Given the description of an element on the screen output the (x, y) to click on. 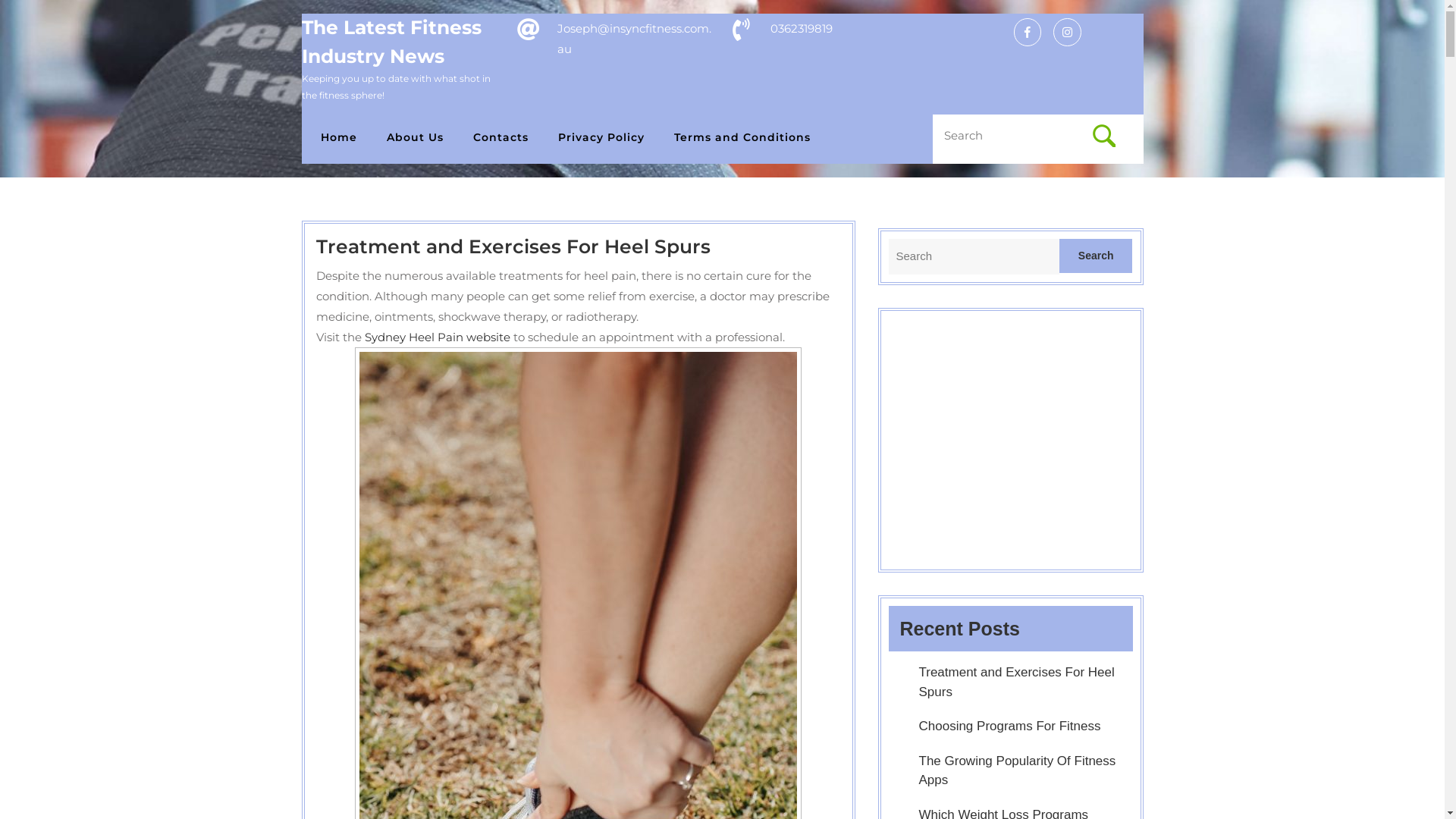
Sydney Heel Pain website Element type: text (436, 336)
Treatment and Exercises For Heel Spurs Element type: text (1016, 682)
Treatment and Exercises For Heel Spurs Element type: text (512, 246)
Joseph@insyncfitness.com.au Element type: text (634, 38)
About Us Element type: text (420, 137)
Search Element type: text (1104, 135)
The Growing Popularity Of Fitness Apps Element type: text (1017, 770)
0362319819 Element type: text (801, 28)
The Latest Fitness Industry News Element type: text (391, 41)
Search Element type: text (1095, 255)
Home Element type: text (343, 137)
Choosing Programs For Fitness Element type: text (1010, 725)
Terms and Conditions Element type: text (746, 137)
Privacy Policy Element type: text (606, 137)
Contacts Element type: text (506, 137)
